Given the description of an element on the screen output the (x, y) to click on. 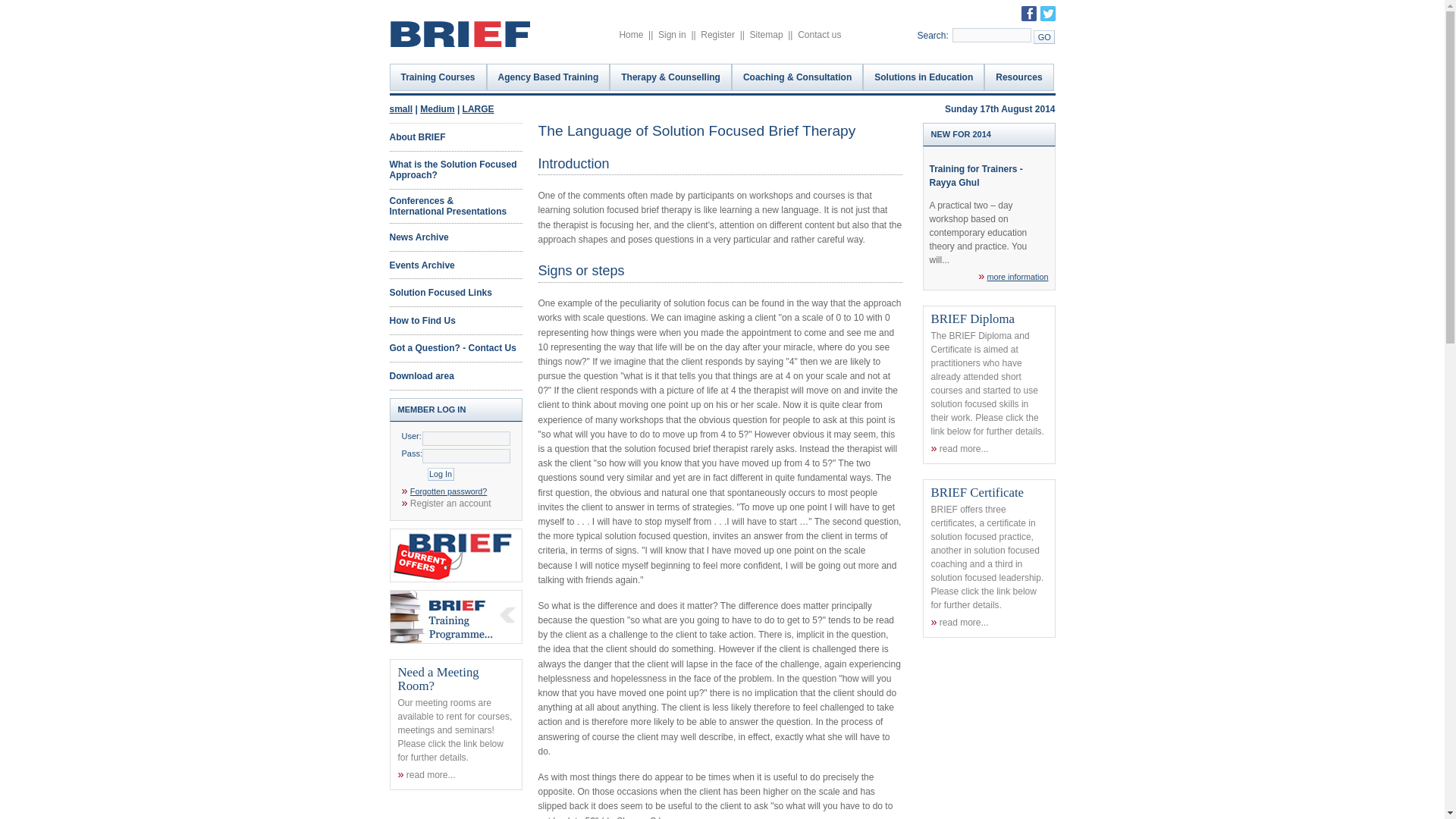
Resources (1018, 76)
Training Courses (438, 76)
Solutions in Education (923, 76)
Training for Trainers - Rayya Ghul (976, 175)
LARGE (479, 109)
Medium (437, 109)
small (401, 109)
more information (1017, 276)
GO (1043, 37)
Agency Based Training (548, 76)
Log In (441, 473)
Forgotten password? (448, 491)
